Given the description of an element on the screen output the (x, y) to click on. 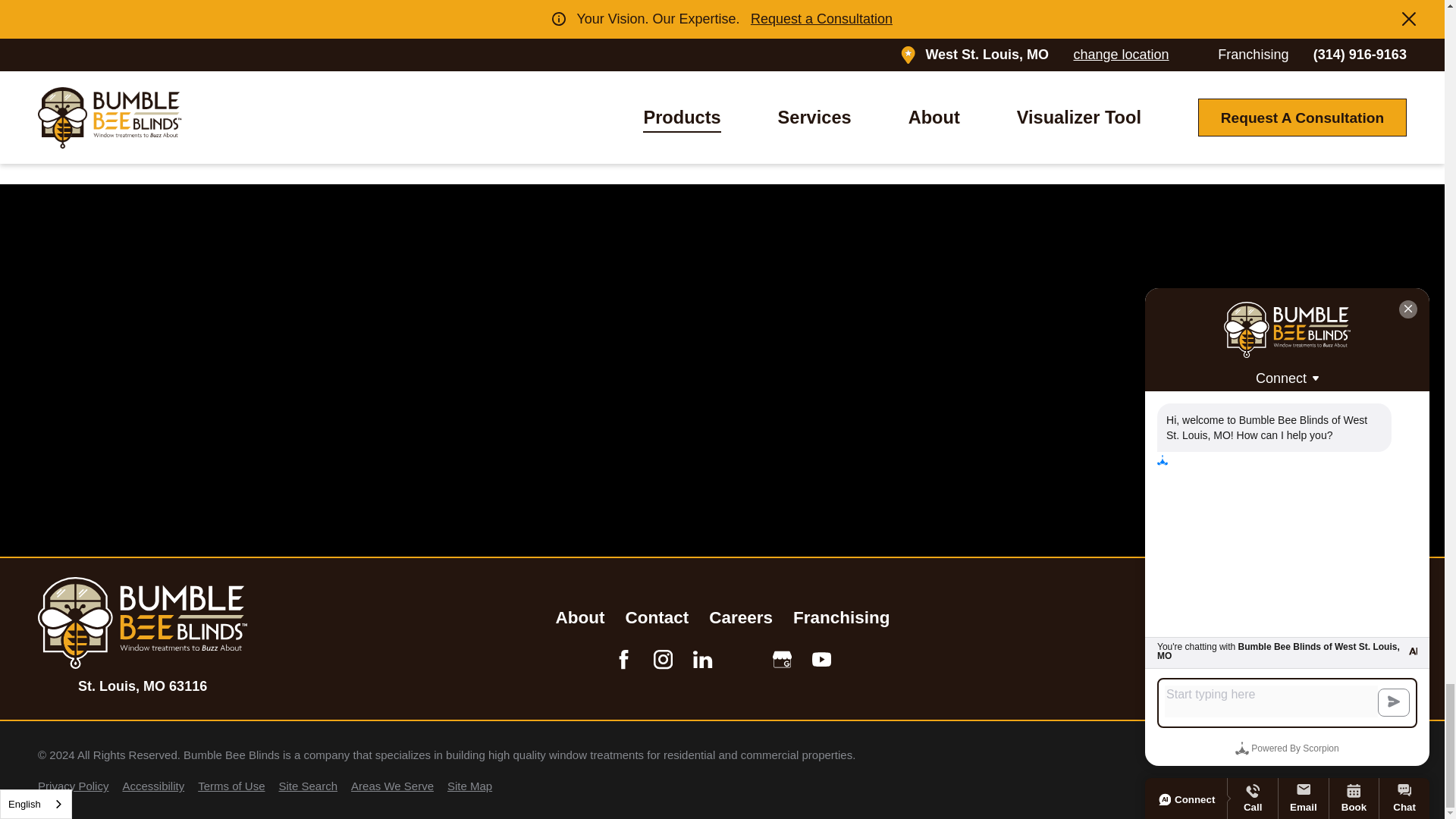
Google Business Profile (782, 659)
YouTube (821, 659)
LinkedIn (702, 659)
Facebook (623, 659)
BBB.org (742, 659)
Bumble Bee Blinds of West St. Louis, MO (142, 623)
Instagram (662, 659)
